Given the description of an element on the screen output the (x, y) to click on. 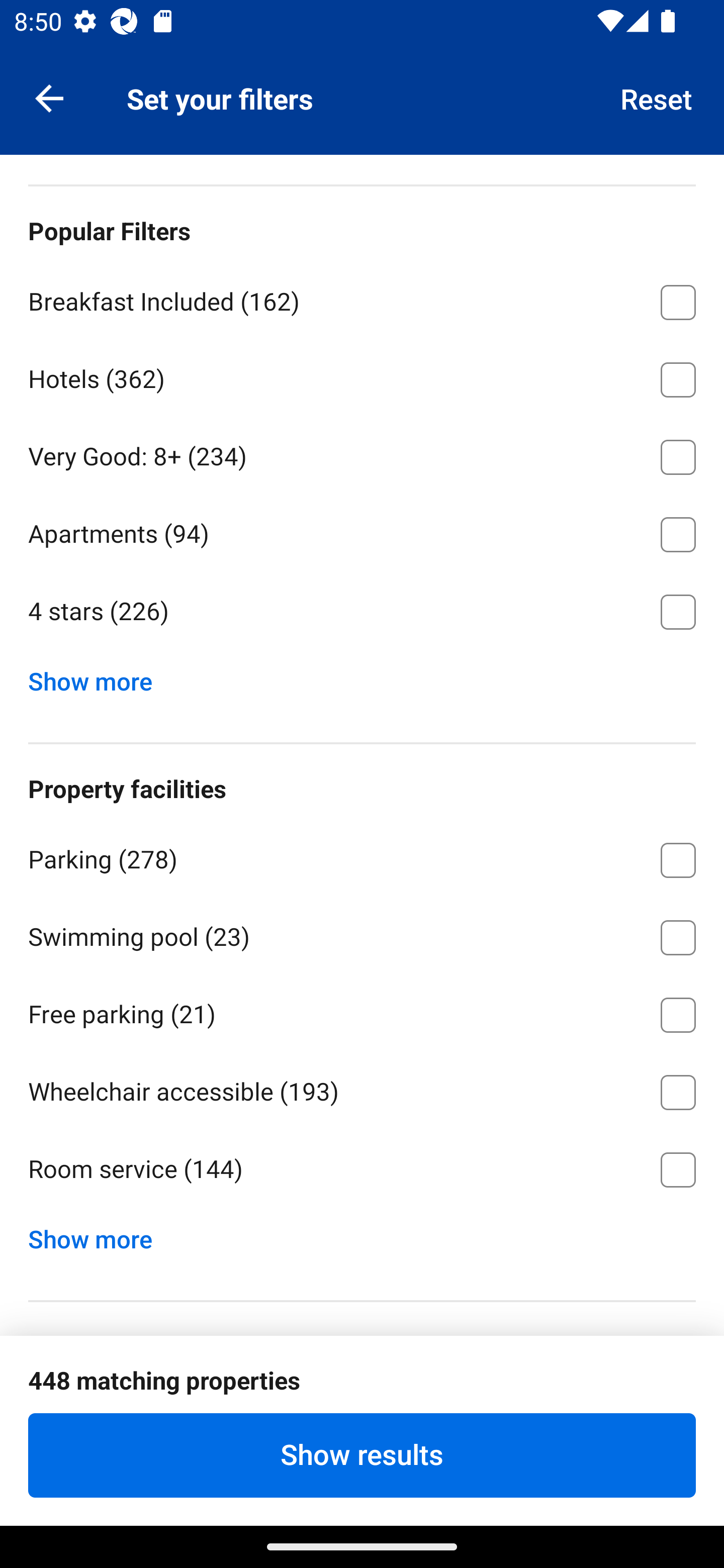
Navigate up (49, 97)
Reset (656, 97)
Breakfast Included ⁦(162) (361, 298)
Hotels ⁦(362) (361, 376)
Very Good: 8+ ⁦(234) (361, 453)
Apartments ⁦(94) (361, 530)
4 stars ⁦(226) (361, 611)
Show more (97, 676)
Parking ⁦(278) (361, 856)
Swimming pool ⁦(23) (361, 934)
Free parking ⁦(21) (361, 1011)
Wheelchair accessible ⁦(193) (361, 1088)
Room service ⁦(144) (361, 1169)
Show more (97, 1234)
Show results (361, 1454)
